Given the description of an element on the screen output the (x, y) to click on. 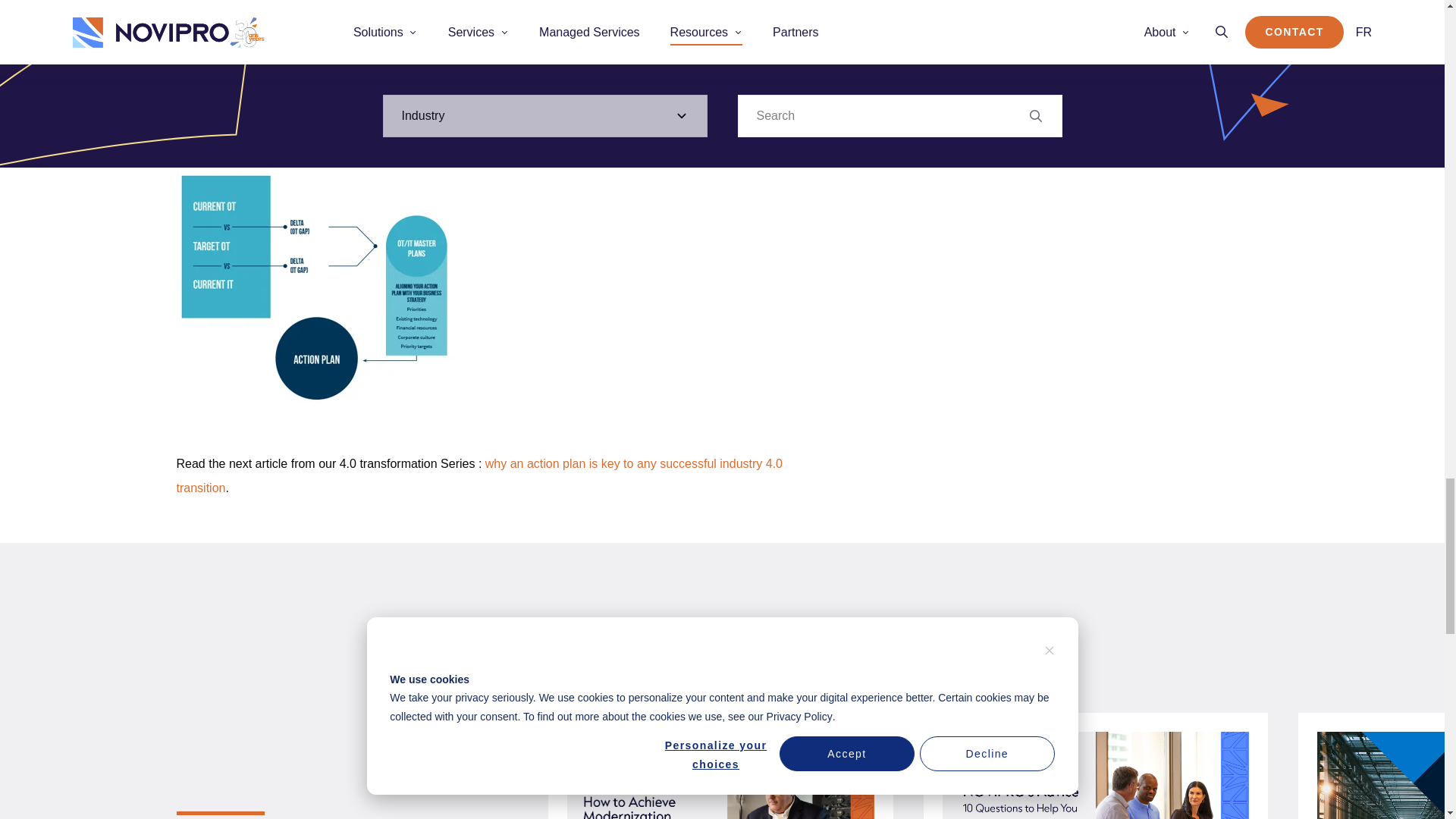
10 Questions to Help You in Your IT Hiring Process (1095, 616)
How to Achieve Modernization with a Focus on Security? (720, 616)
